Given the description of an element on the screen output the (x, y) to click on. 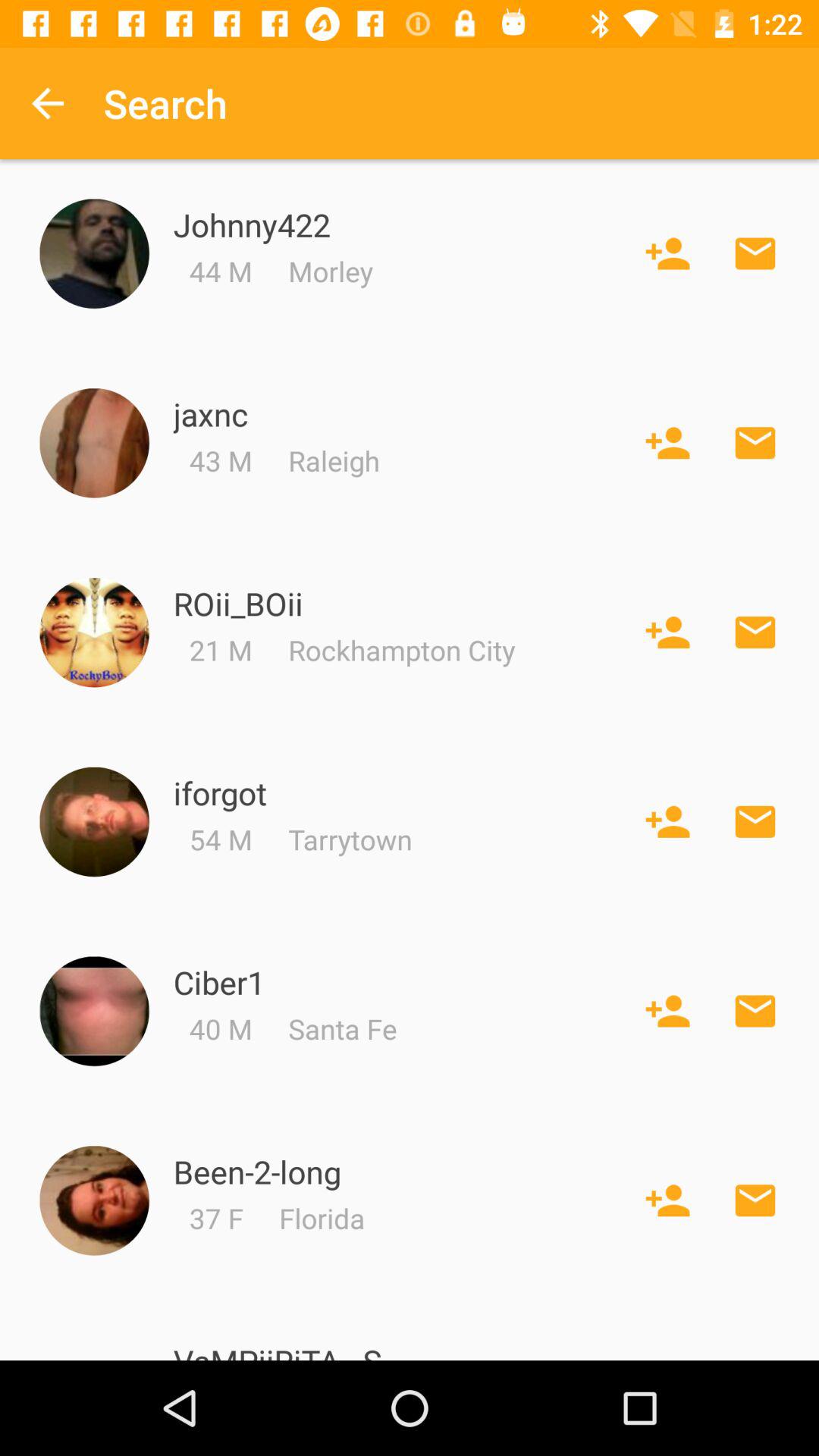
roii_ boii profile (94, 632)
